Given the description of an element on the screen output the (x, y) to click on. 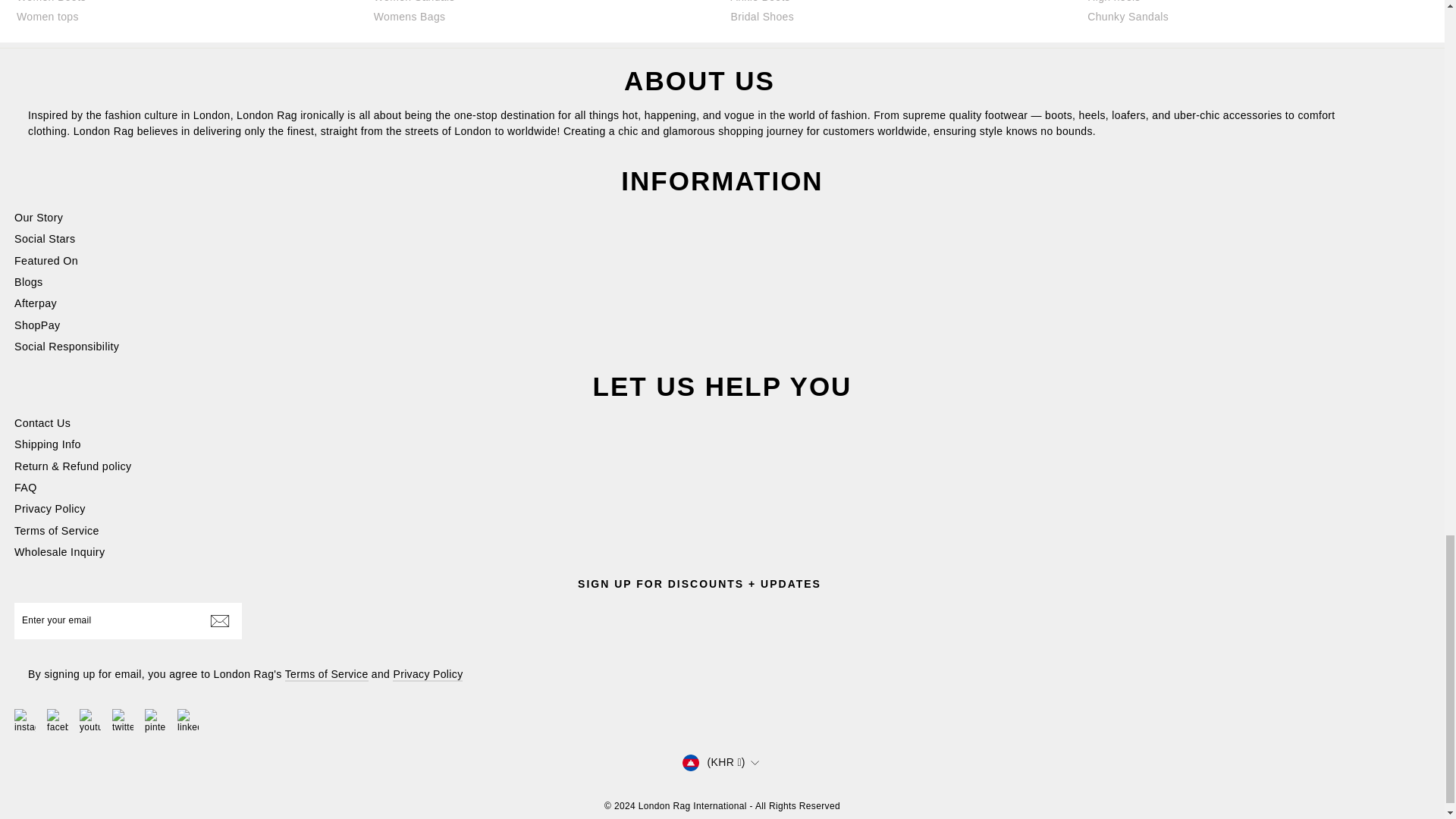
Terms of Service (326, 674)
Privacy Policy (428, 674)
icon-email (219, 620)
